Given the description of an element on the screen output the (x, y) to click on. 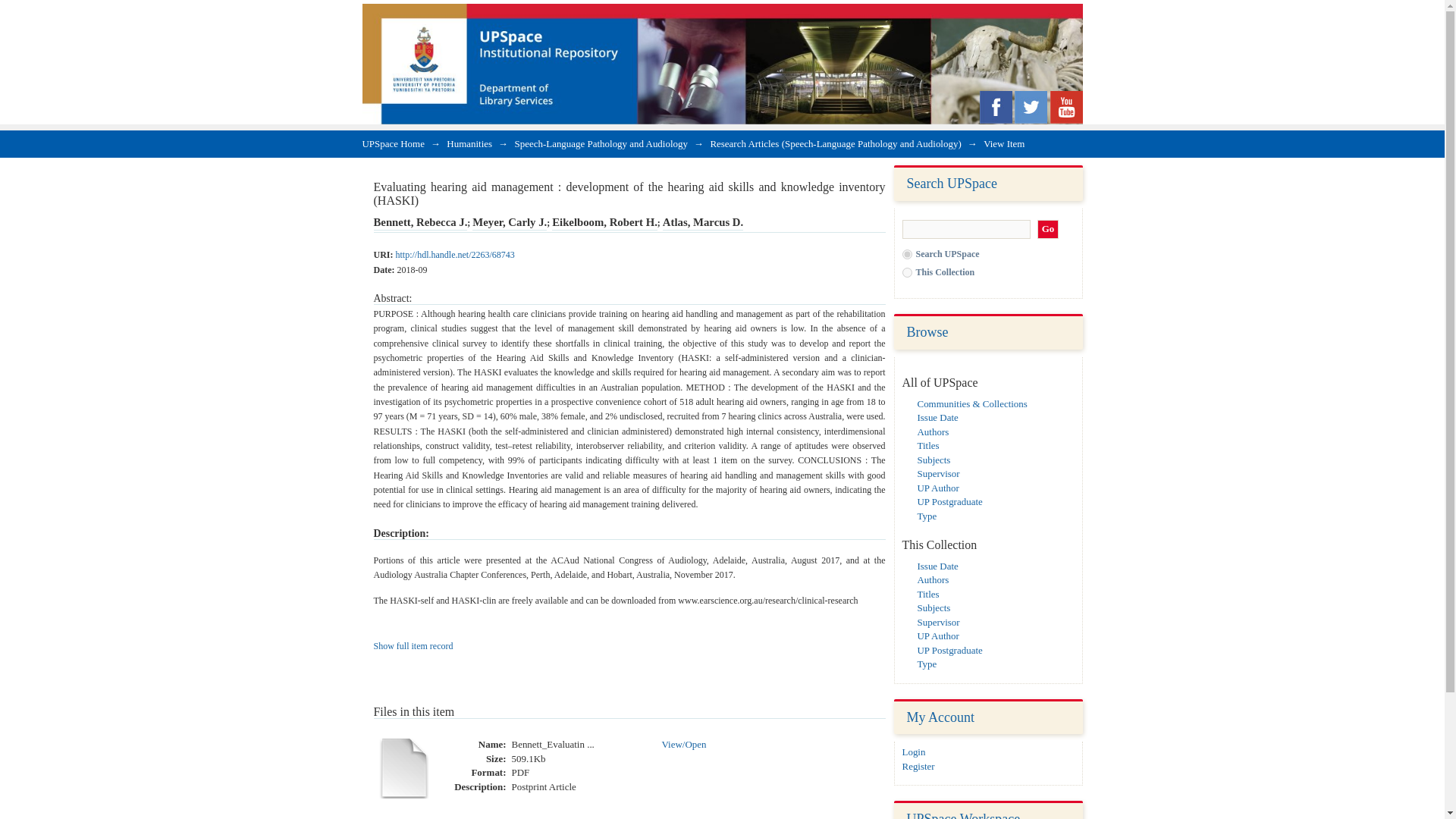
UPSpace Workspace (963, 815)
Type (927, 514)
Authors (933, 579)
Issue Date (937, 417)
Subjects (933, 607)
UP Author (938, 487)
Register (918, 766)
Issue Date (937, 565)
Titles (928, 593)
Titles (928, 445)
